Given the description of an element on the screen output the (x, y) to click on. 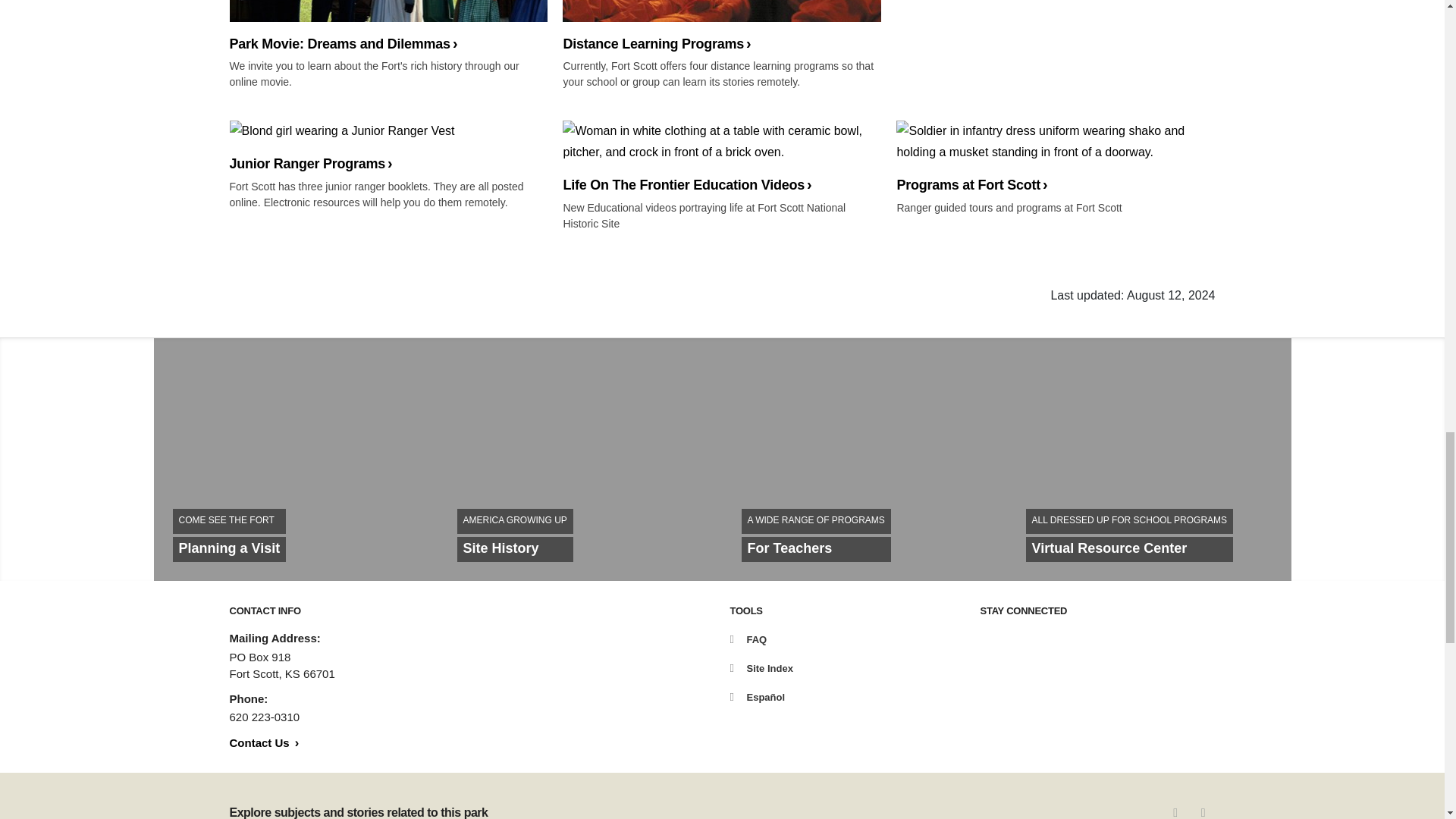
Park Movie: Dreams and Dilemmas (580, 459)
Programs at Fort Scott (1149, 459)
Life On The Frontier Education Videos (387, 26)
Junior Ranger Programs (1055, 157)
Contact Us (721, 157)
Distance Learning Programs (387, 146)
